Given the description of an element on the screen output the (x, y) to click on. 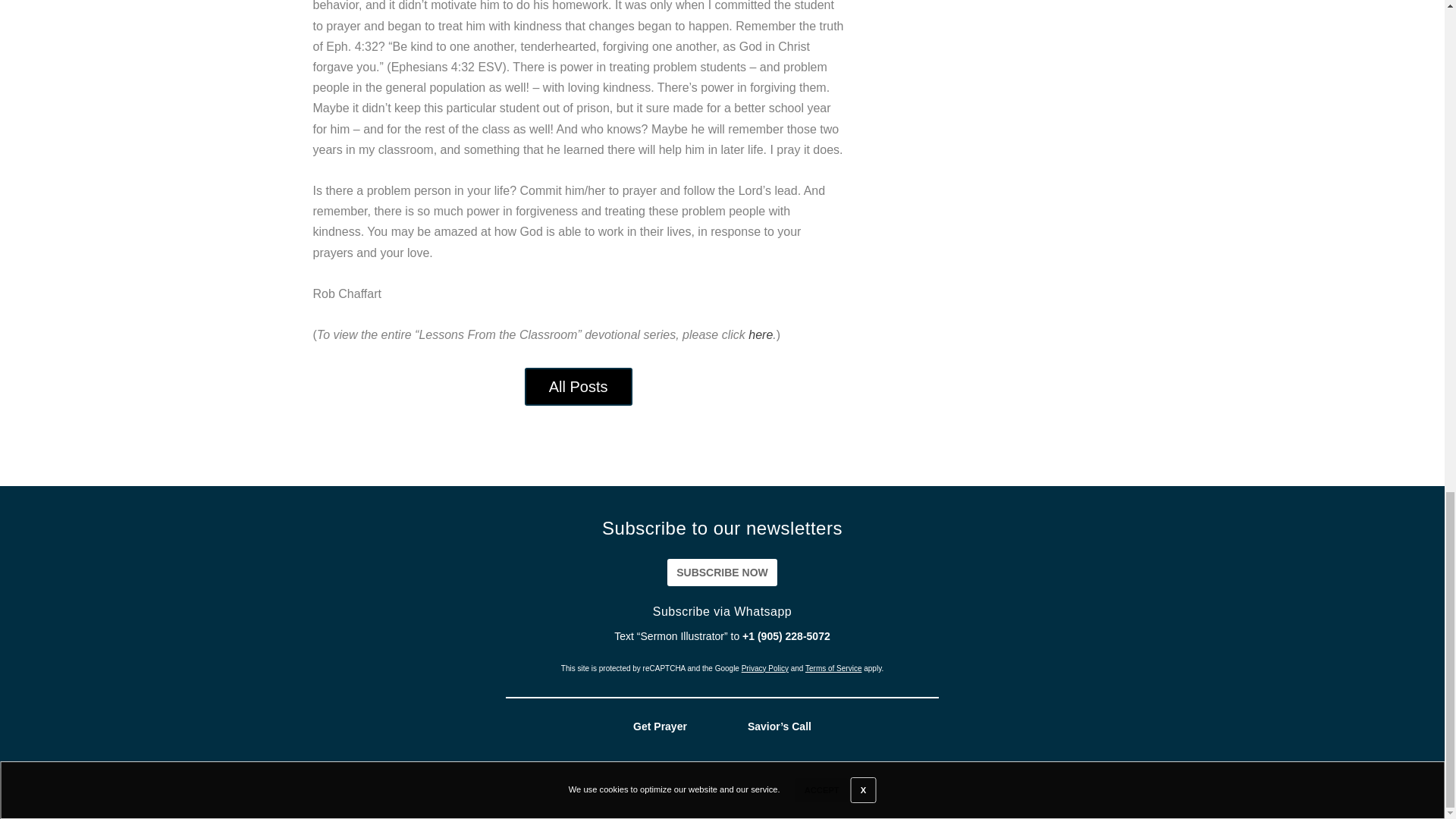
Answers2Prayer (873, 792)
All Posts (577, 386)
Get Prayer (659, 725)
Contact Us (1387, 792)
Privacy Policy (765, 668)
Subscribe now (721, 572)
Subscribe now (721, 572)
Terms of Service (833, 668)
here (760, 334)
